Given the description of an element on the screen output the (x, y) to click on. 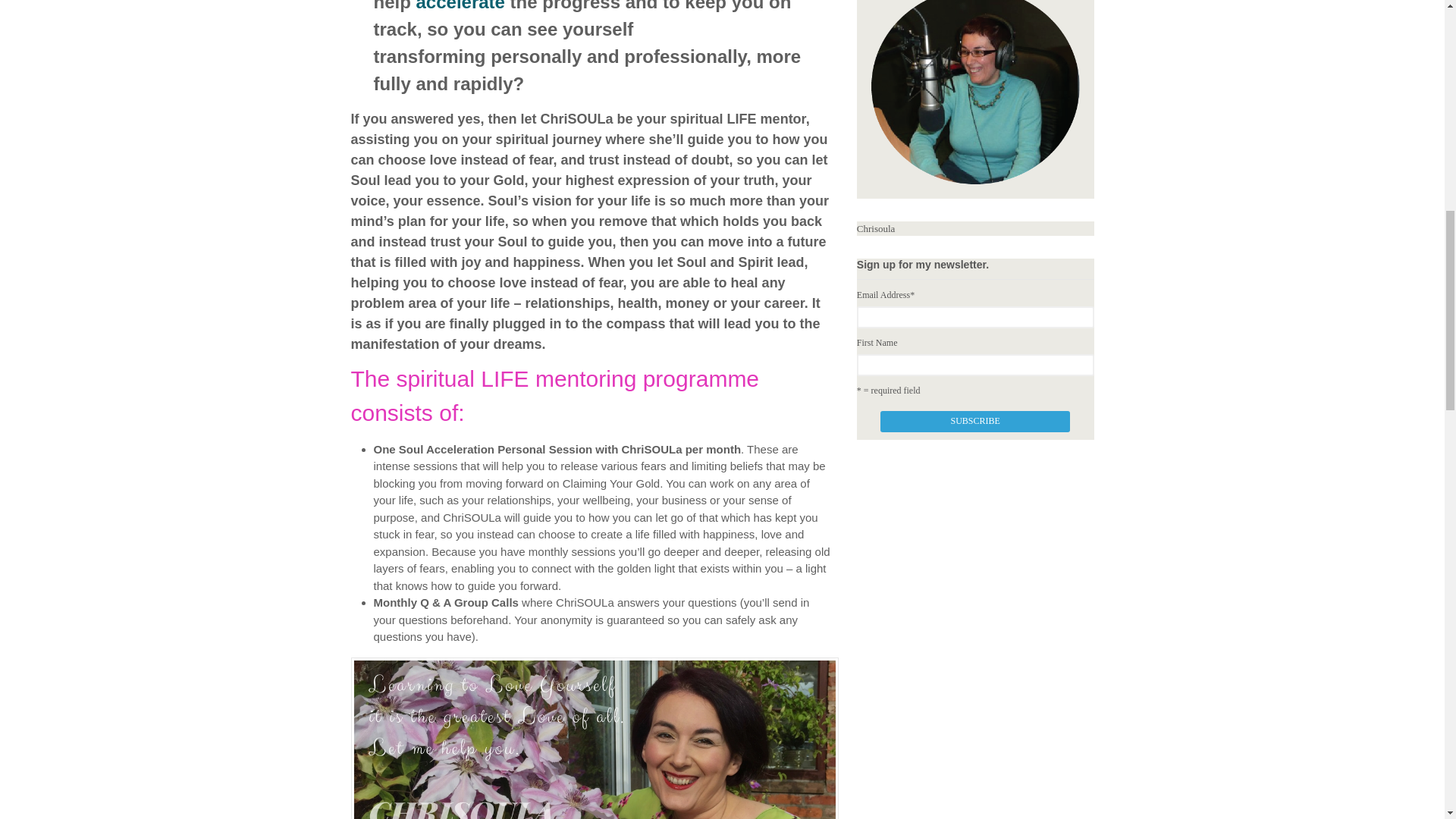
Subscribe (975, 421)
